Given the description of an element on the screen output the (x, y) to click on. 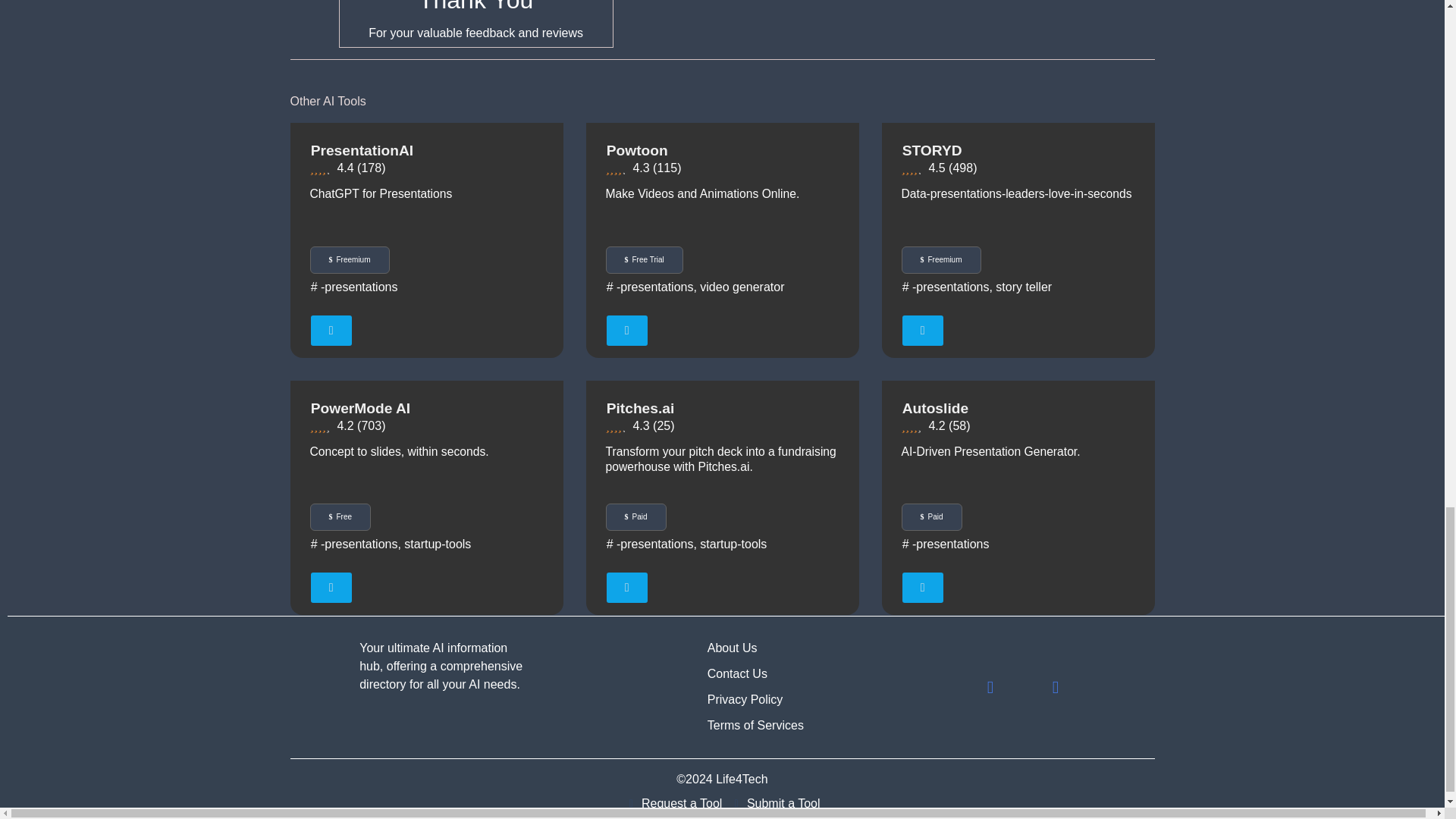
Free Trial (643, 259)
Freemium (348, 259)
Powtoon (637, 150)
PresentationAI (362, 150)
STORYD (932, 150)
